Given the description of an element on the screen output the (x, y) to click on. 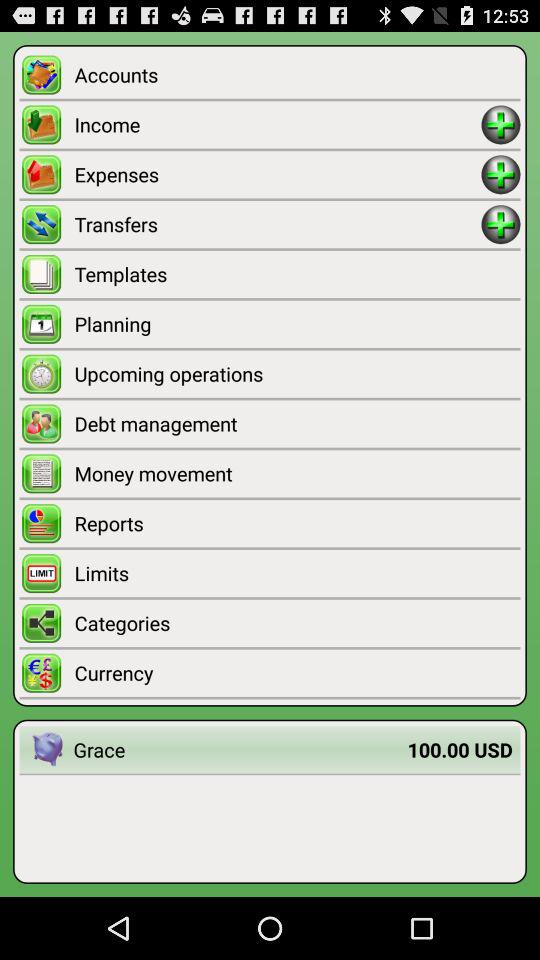
choose item below the planning (297, 373)
